Given the description of an element on the screen output the (x, y) to click on. 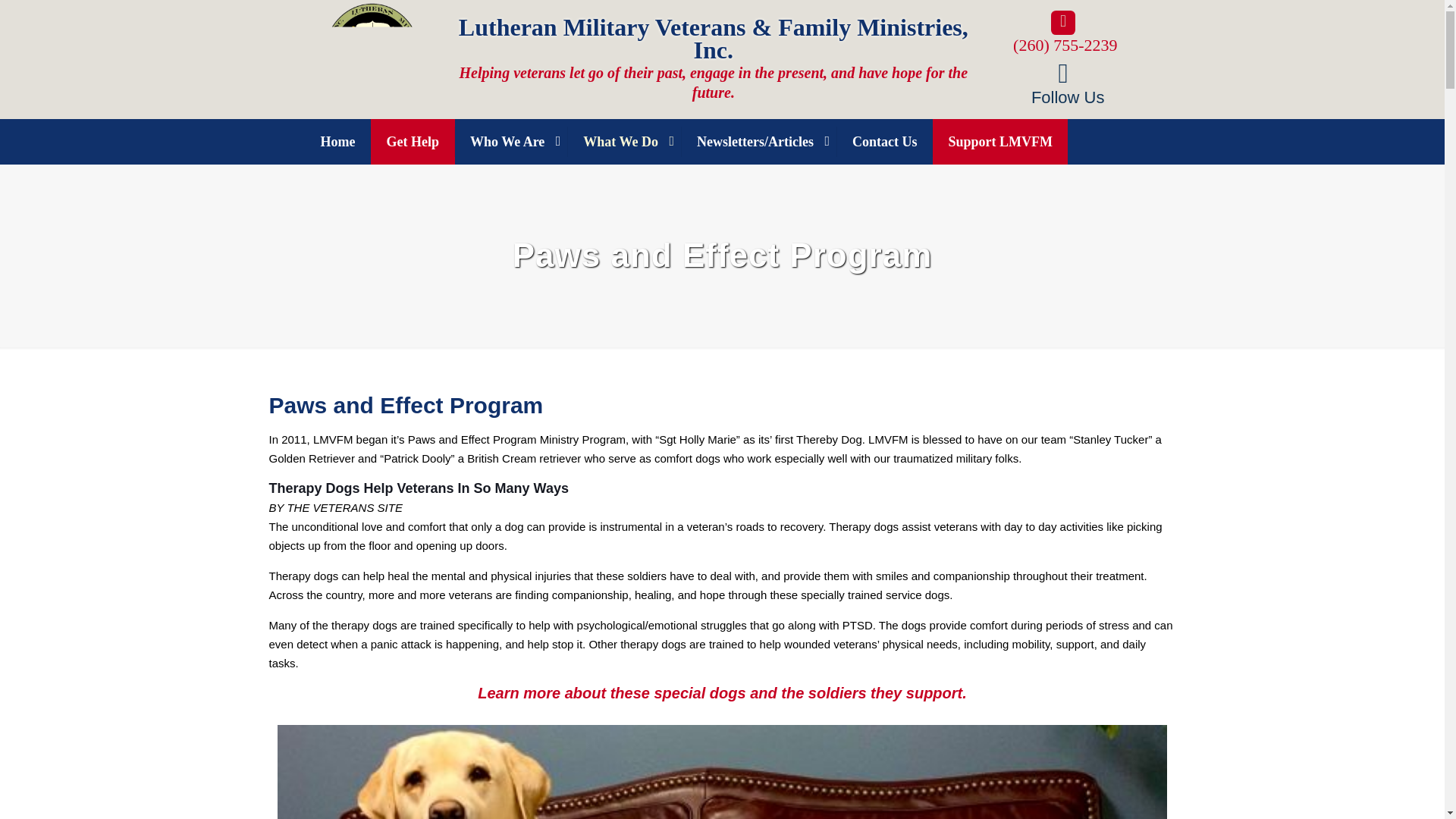
  Follow Us (1063, 83)
Get Help (412, 141)
Home (337, 141)
Who We Are (510, 141)
Lutheran Military Veterans and Families Ministries, Inc. (372, 109)
Contact Us (885, 141)
What We Do (624, 141)
Support LMVFM (1000, 141)
